Given the description of an element on the screen output the (x, y) to click on. 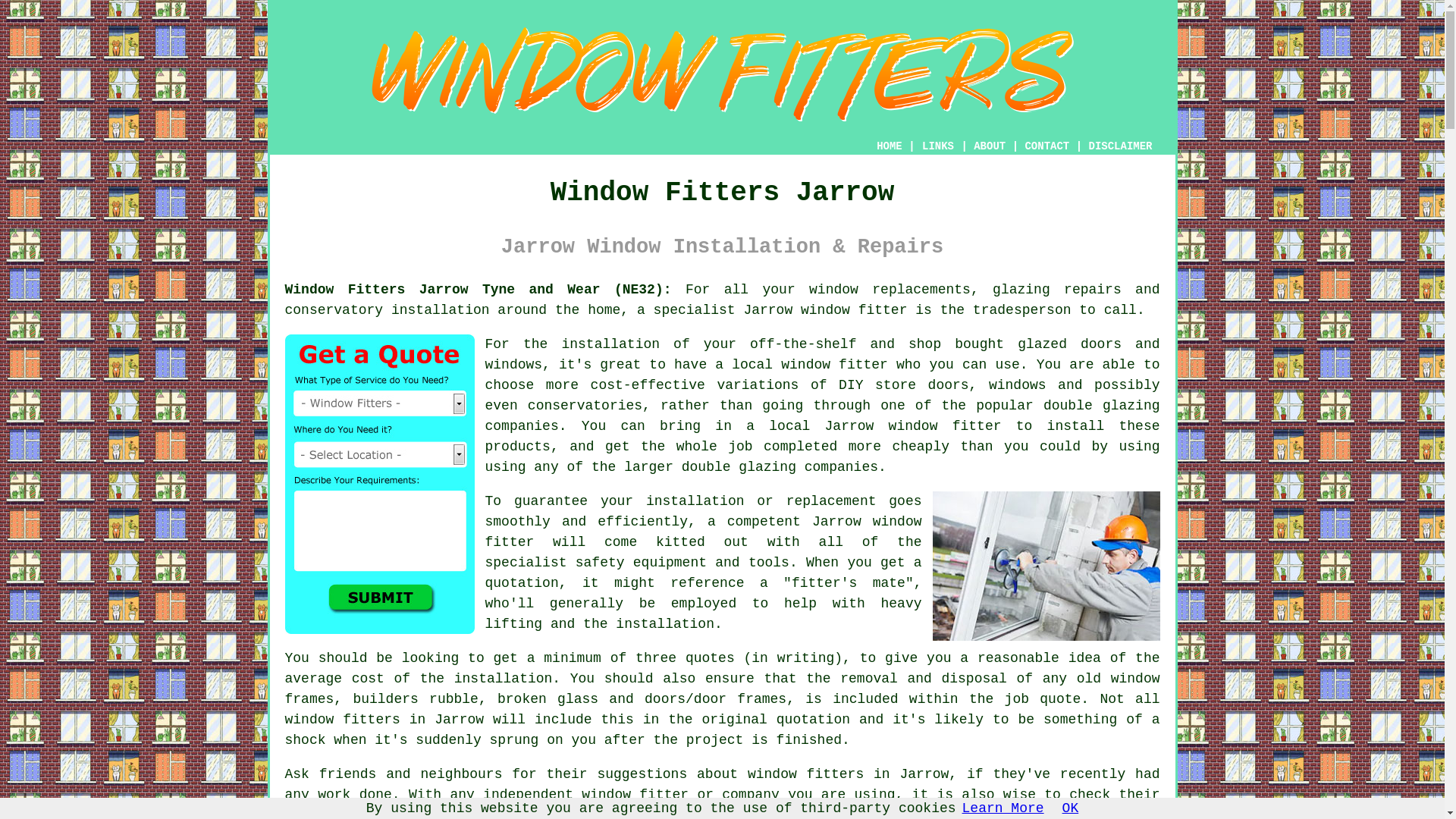
window fitters (342, 719)
HOME (889, 146)
window fitter (853, 309)
Window Fitters Jarrow (721, 74)
LINKS (938, 146)
